Given the description of an element on the screen output the (x, y) to click on. 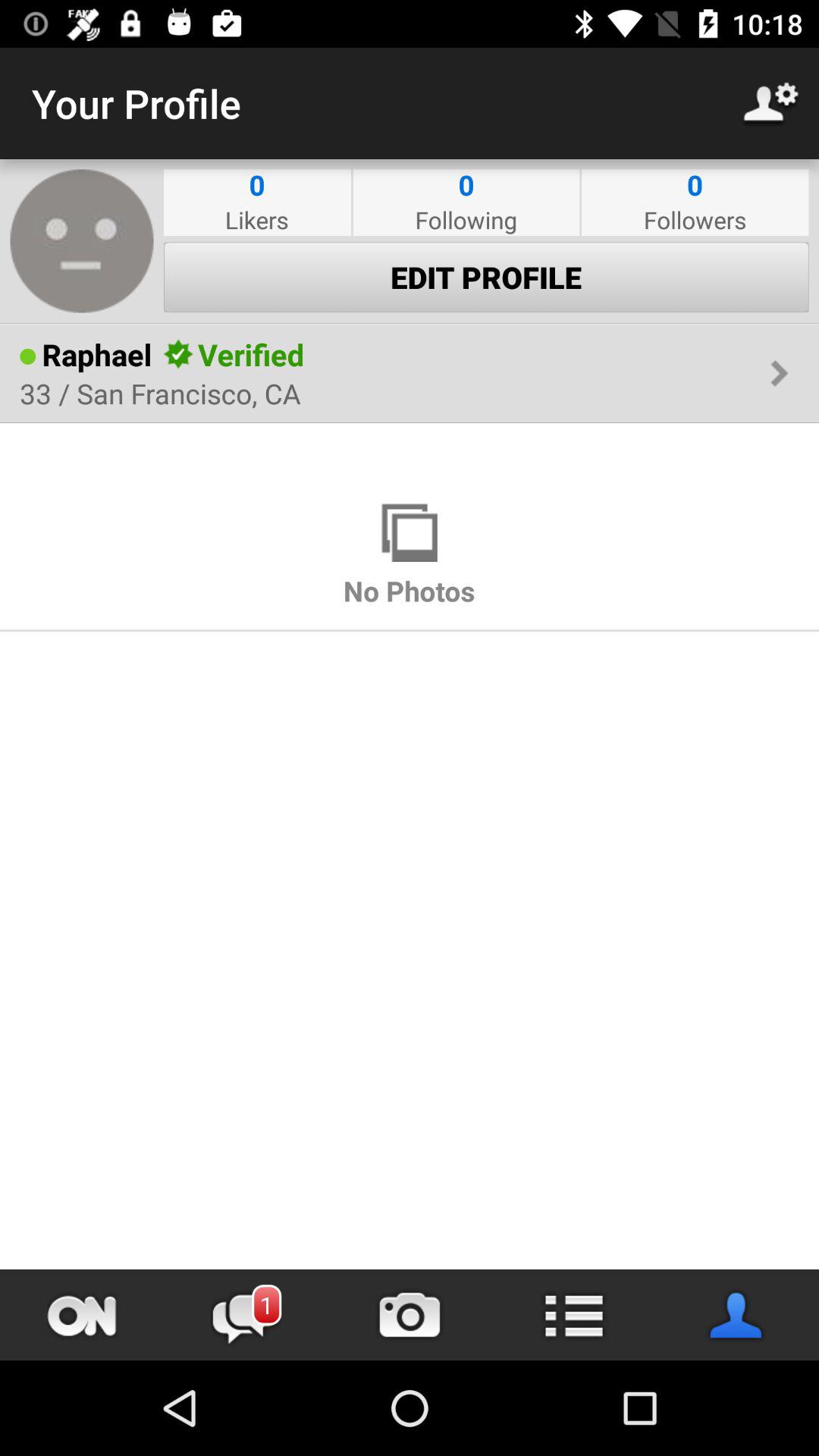
open camera (409, 1315)
